Given the description of an element on the screen output the (x, y) to click on. 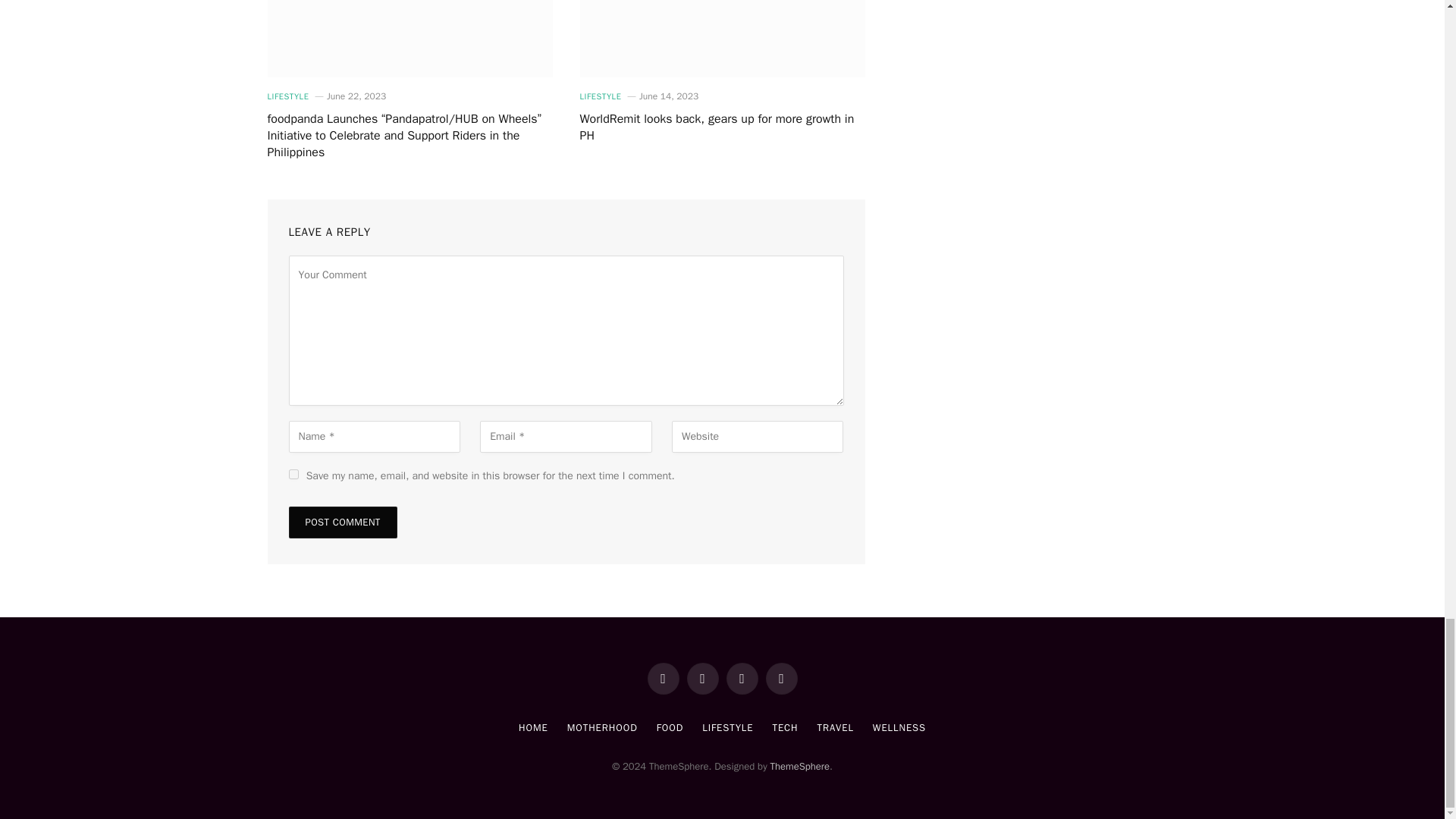
Post Comment (342, 522)
yes (293, 474)
